Given the description of an element on the screen output the (x, y) to click on. 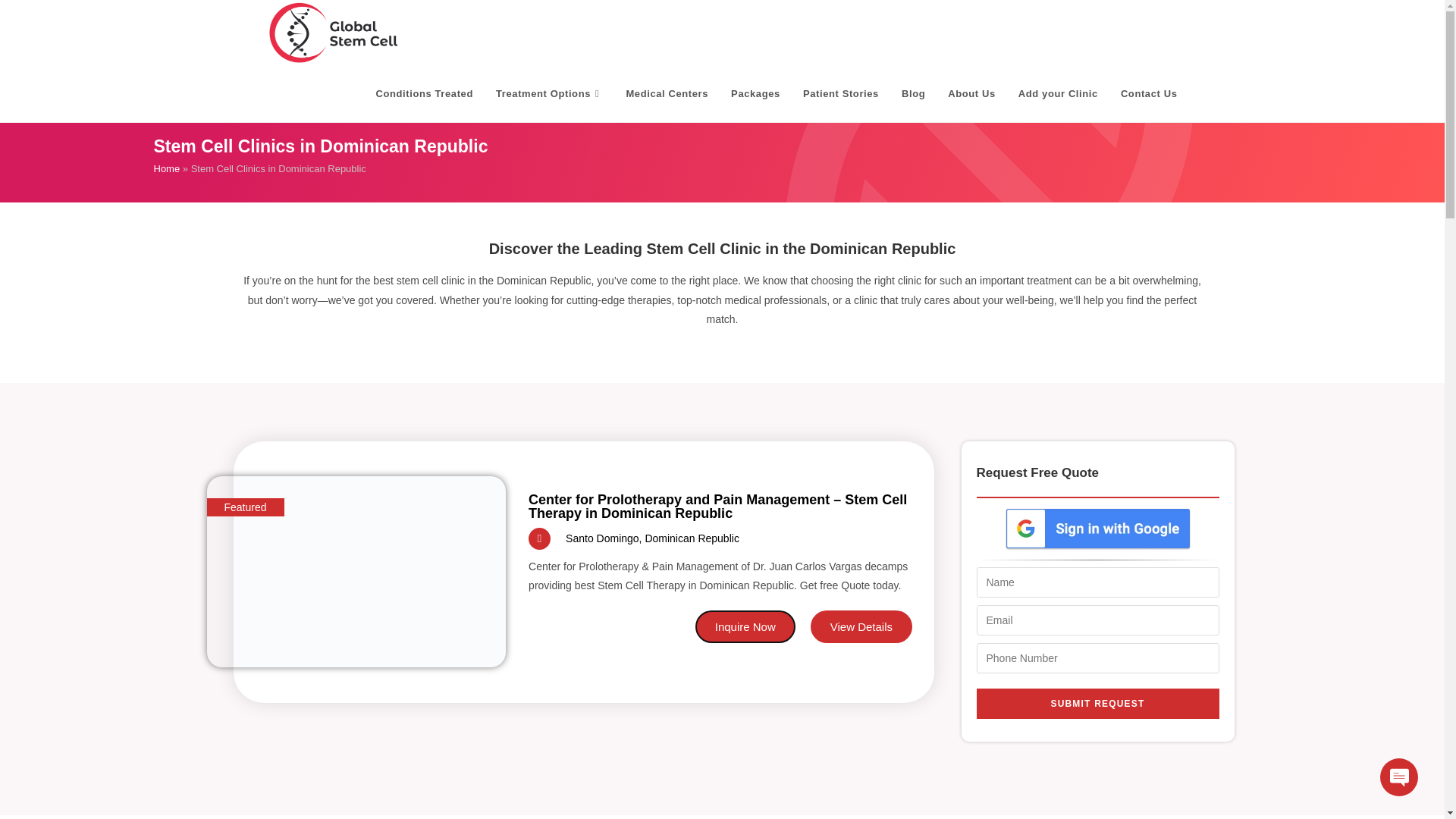
Center for Prolotherapy and Pain Management (355, 571)
Home (165, 168)
Treatment Options (549, 94)
Packages (755, 94)
Contact Us (1149, 94)
Medical Centers (666, 94)
Patient Stories (840, 94)
About Us (971, 94)
Conditions Treated (424, 94)
View Details (861, 626)
Sign in with Google (1097, 528)
SUBMIT REQUEST (1098, 703)
Add your Clinic (1058, 94)
Inquire Now (744, 626)
